Given the description of an element on the screen output the (x, y) to click on. 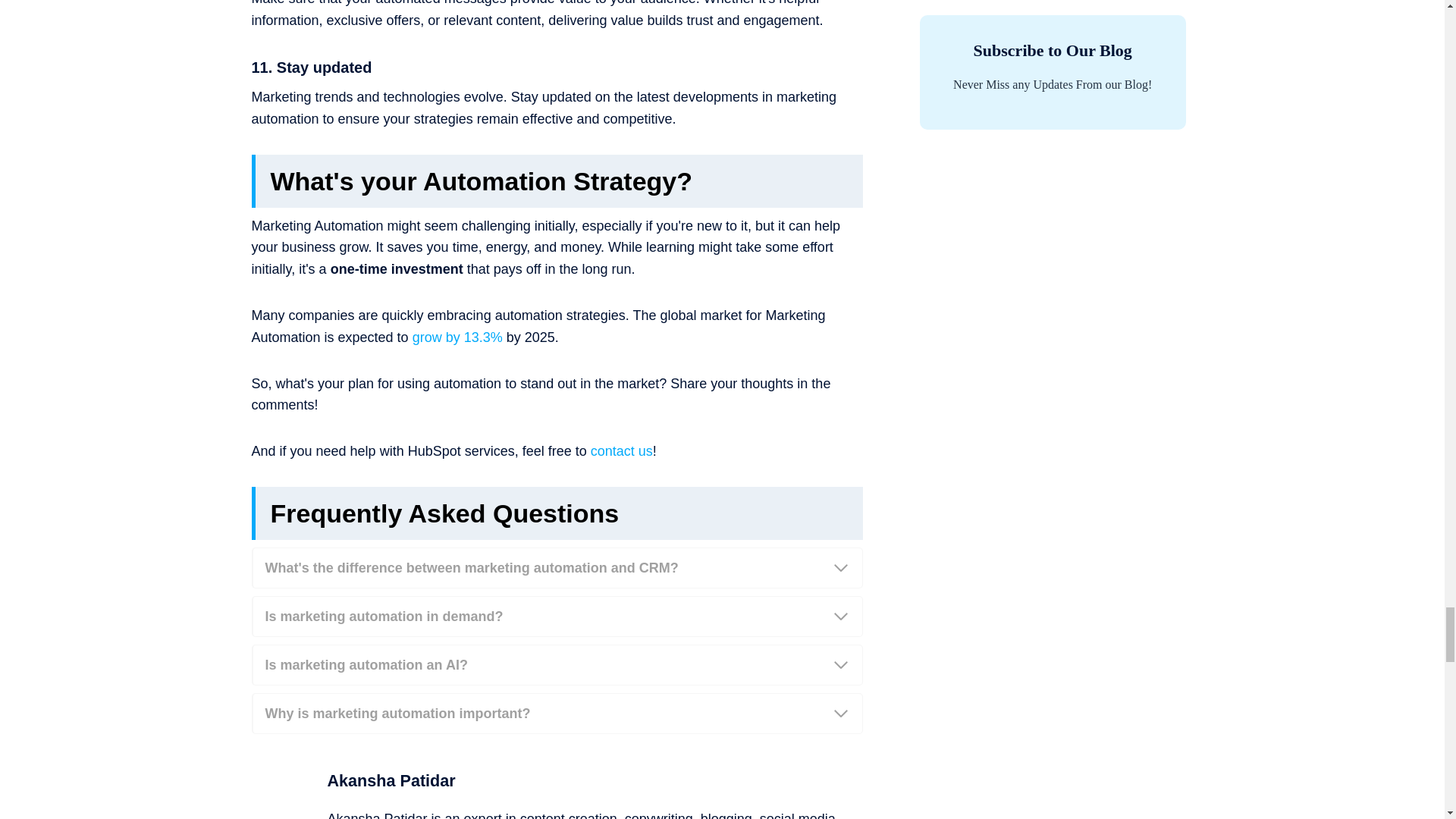
Posts by Akansha Patidar (391, 780)
